Given the description of an element on the screen output the (x, y) to click on. 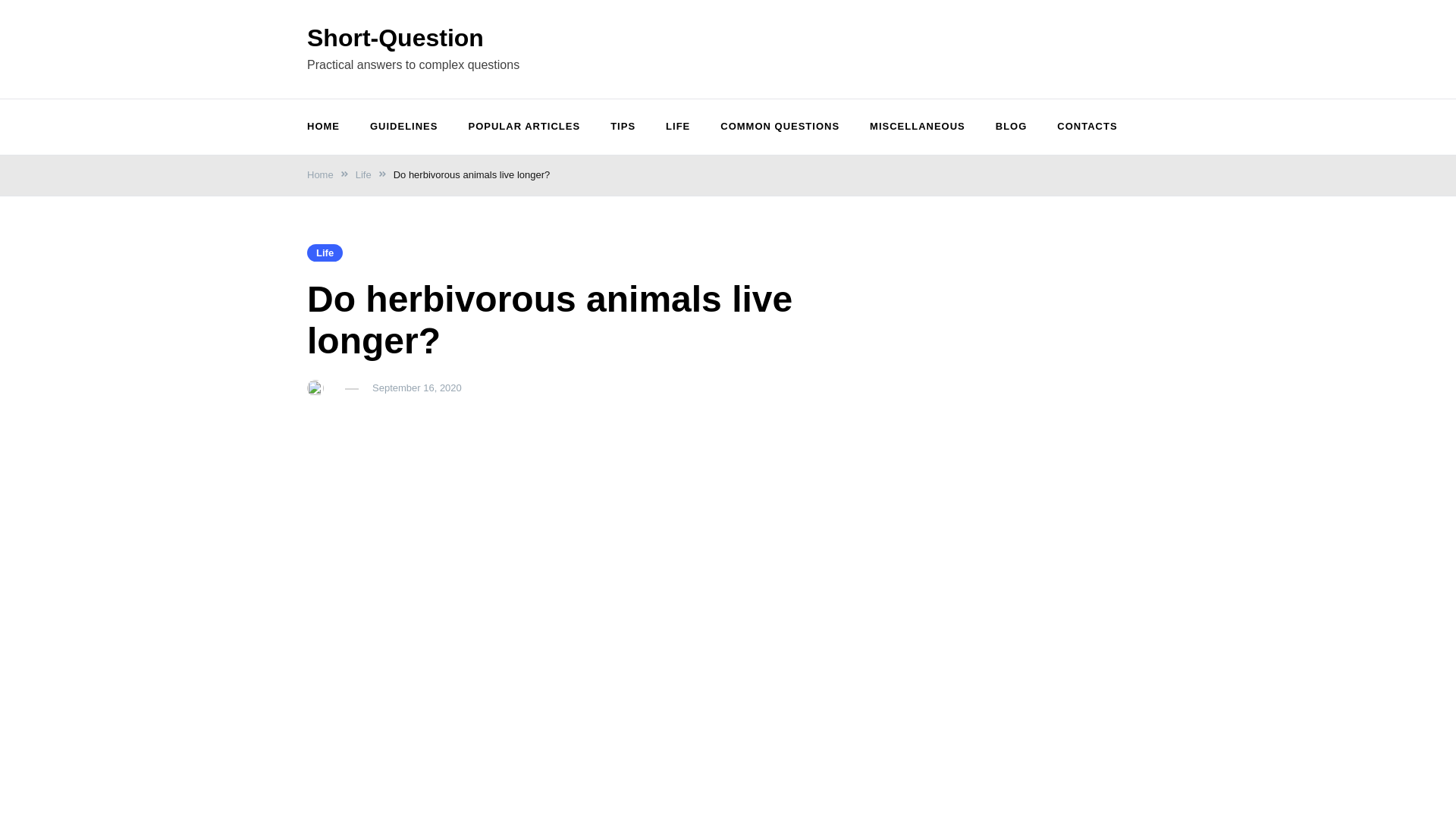
4 Do vegans have a longer life expectancy? (420, 618)
CONTACTS (1081, 126)
TIPS (617, 126)
2 What happens when herbivores die? (406, 578)
BLOG (1005, 126)
1 Do herbivorous animals live longer? (405, 558)
5 Can a herbivore live longer than a carnivore? (428, 639)
Life (357, 180)
3 Do vegetarians live longer than meat eaters? (428, 599)
hide (635, 527)
Life (319, 258)
GUIDELINES (397, 126)
LIFE (672, 126)
MISCELLANEOUS (911, 126)
